Given the description of an element on the screen output the (x, y) to click on. 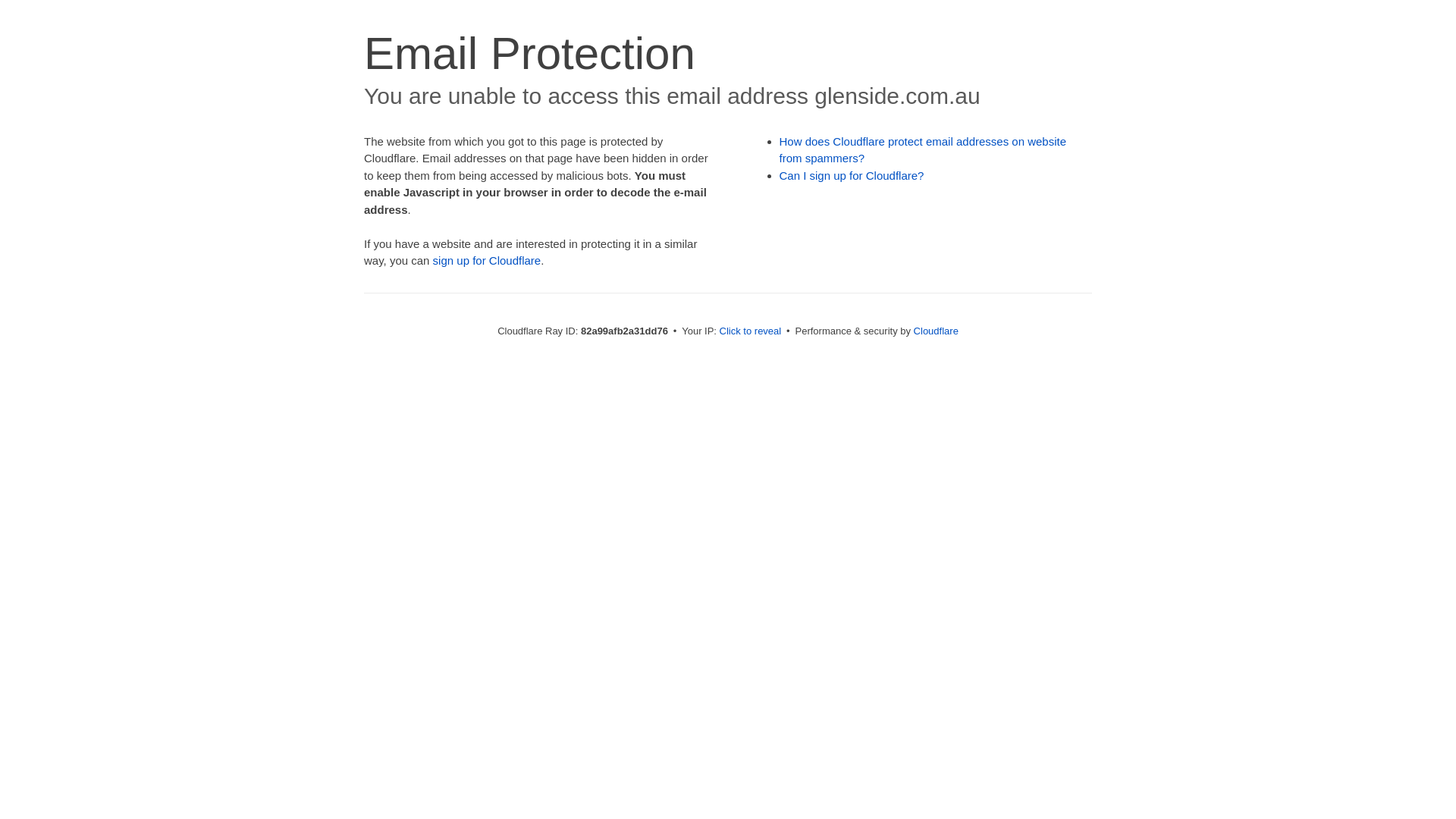
Cloudflare Element type: text (935, 330)
Can I sign up for Cloudflare? Element type: text (851, 175)
sign up for Cloudflare Element type: text (487, 260)
Click to reveal Element type: text (750, 330)
